Given the description of an element on the screen output the (x, y) to click on. 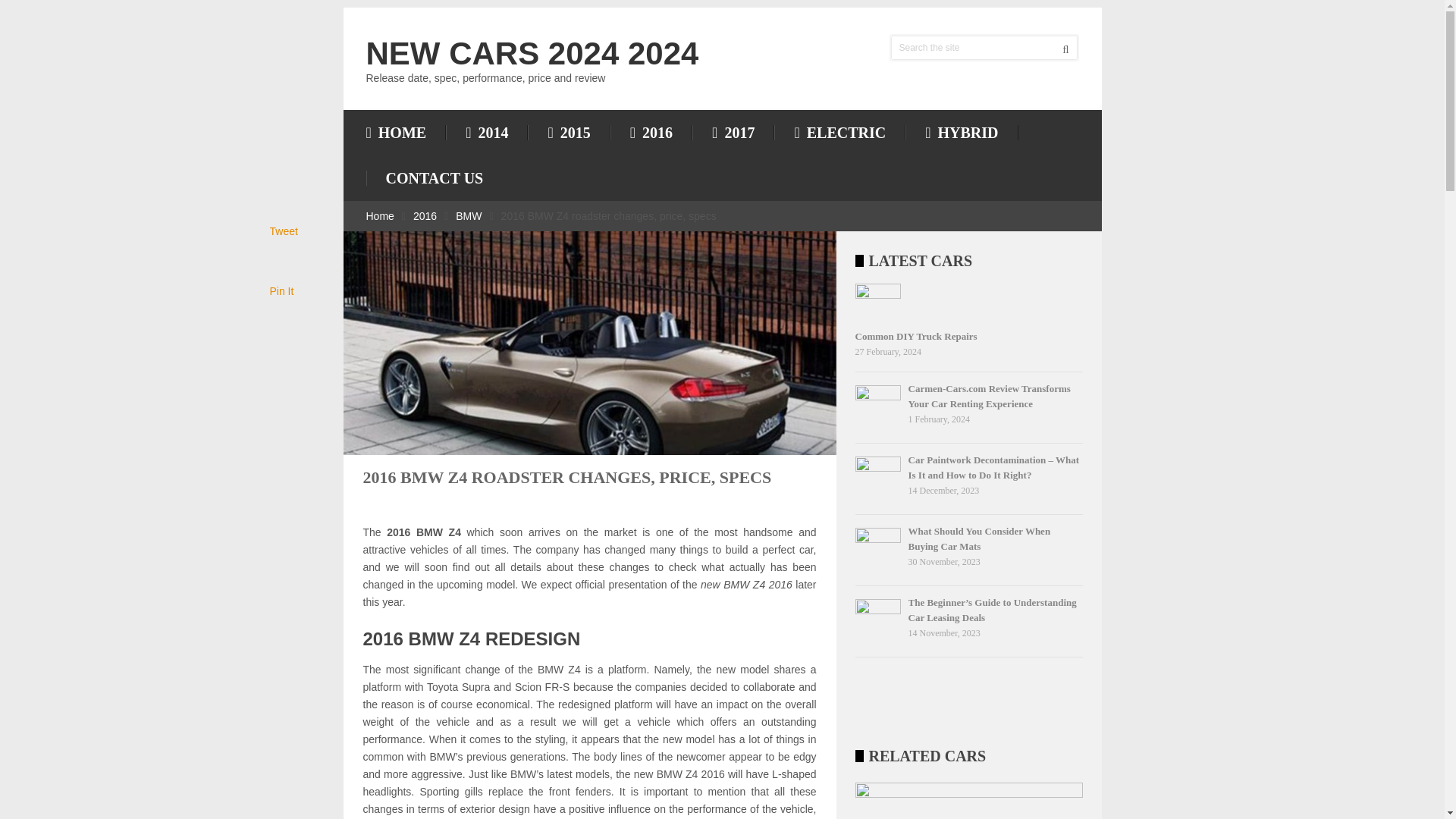
HOME (405, 132)
Pin It (281, 291)
BMW (468, 215)
2014 (486, 132)
2017 (733, 132)
CONTACT US (433, 177)
HYBRID (961, 132)
2016 (424, 215)
NEW CARS 2024 2024 (531, 53)
Tweet (283, 231)
ELECTRIC (839, 132)
2015 (568, 132)
Home (379, 215)
2016 (651, 132)
